Given the description of an element on the screen output the (x, y) to click on. 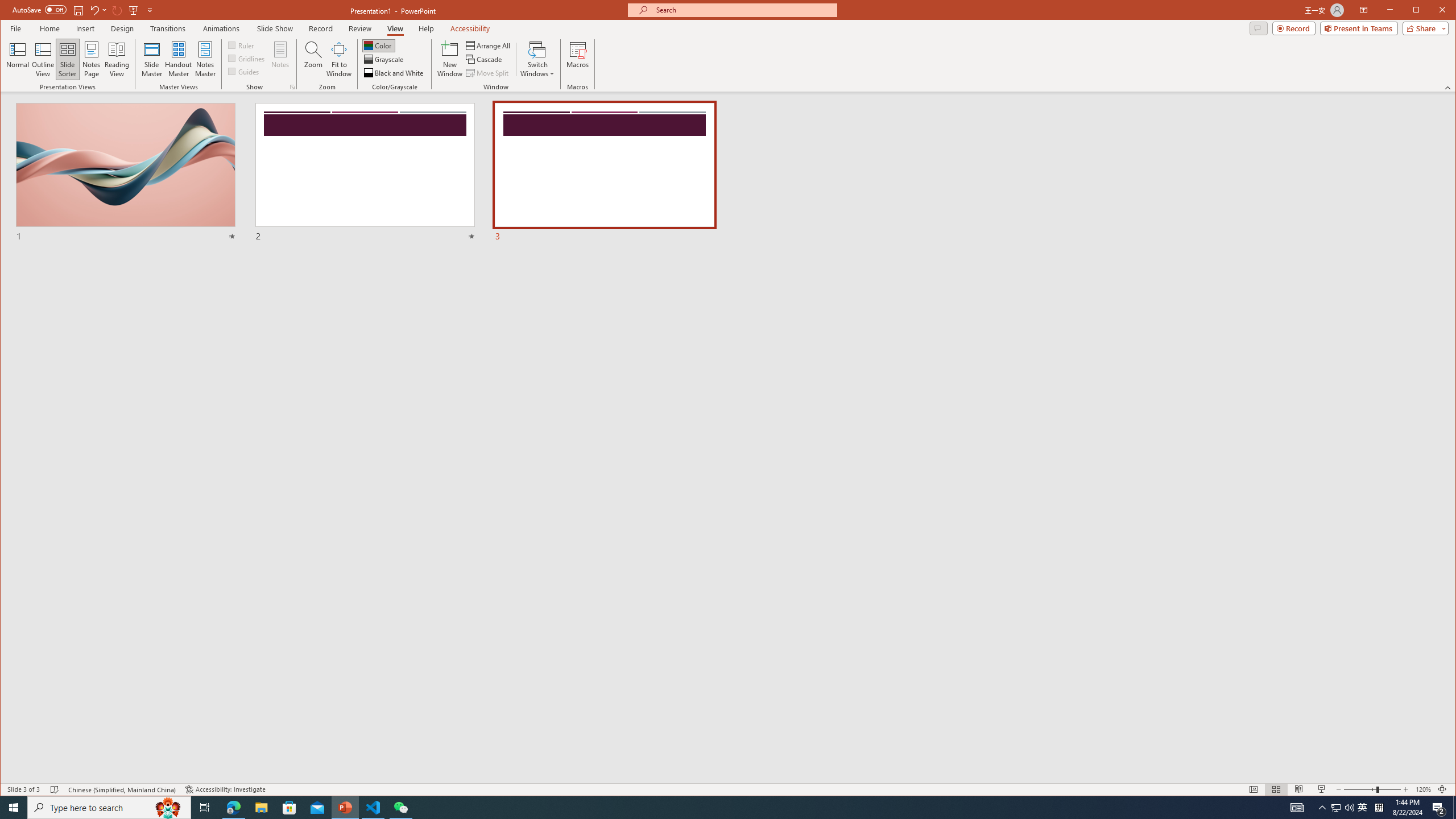
Arrange All (488, 45)
Handout Master (178, 59)
Move Split (488, 72)
New Window (450, 59)
